Given the description of an element on the screen output the (x, y) to click on. 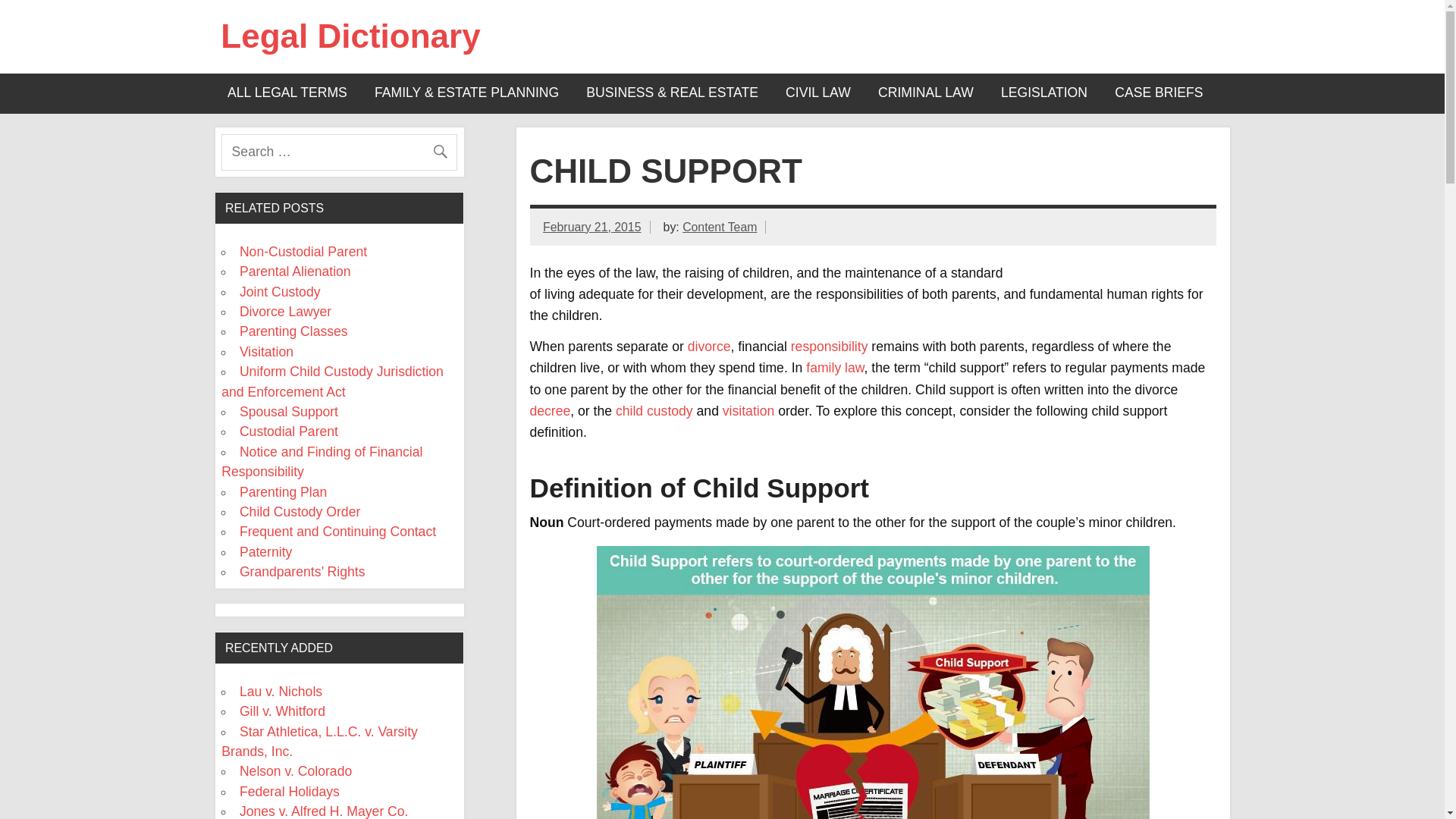
LegalDictionary Content Team (719, 226)
LEGISLATION (1043, 93)
child custody (654, 410)
Legal Dictionary (350, 35)
Content Team (719, 226)
responsibility (828, 346)
CIVIL LAW (817, 93)
8:45 pm (591, 226)
February 21, 2015 (591, 226)
CASE BRIEFS (1159, 93)
family law (834, 367)
visitation (748, 410)
divorce (708, 346)
CRIMINAL LAW (925, 93)
ALL LEGAL TERMS (286, 93)
